Given the description of an element on the screen output the (x, y) to click on. 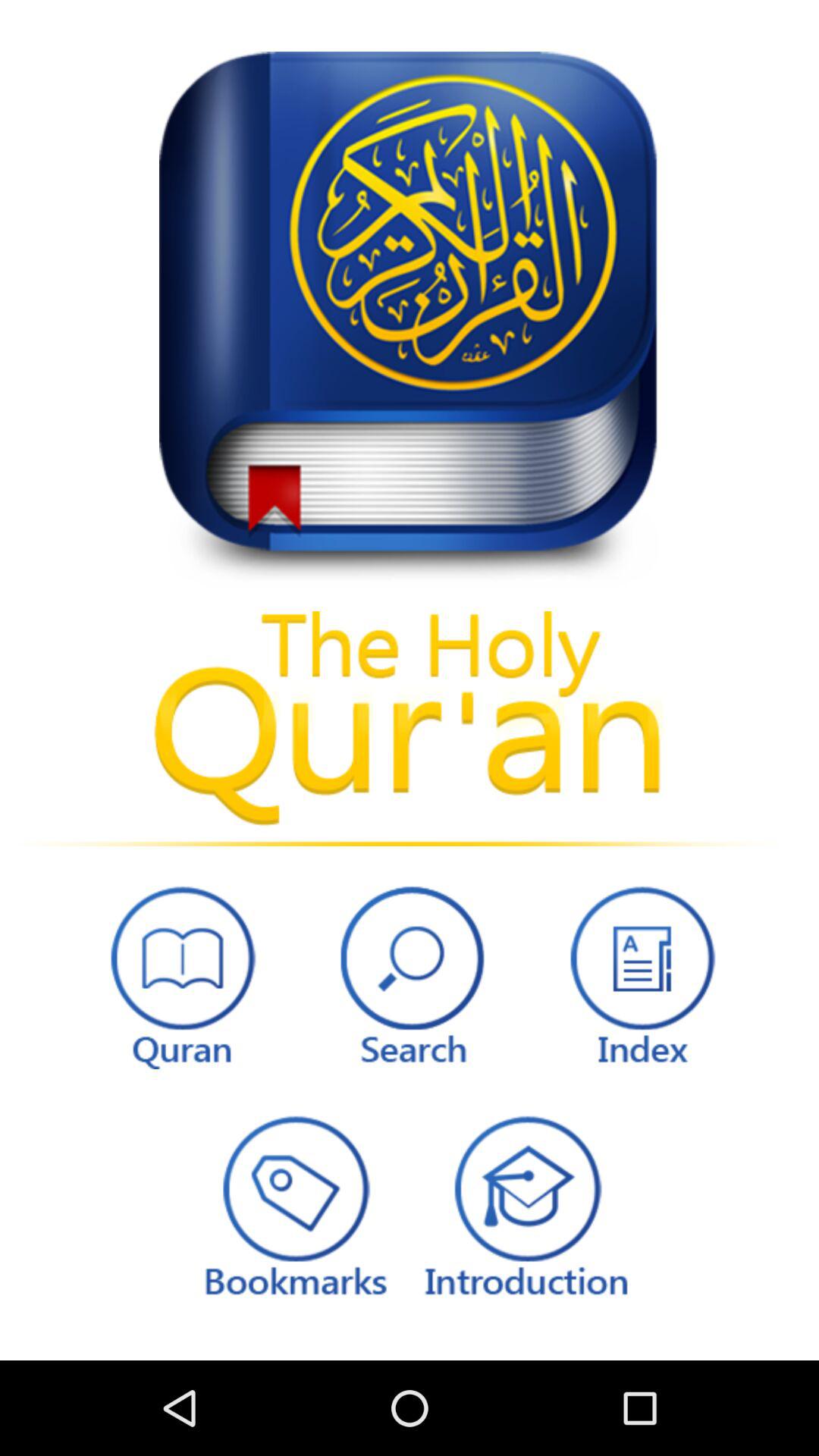
go to search (409, 973)
